Given the description of an element on the screen output the (x, y) to click on. 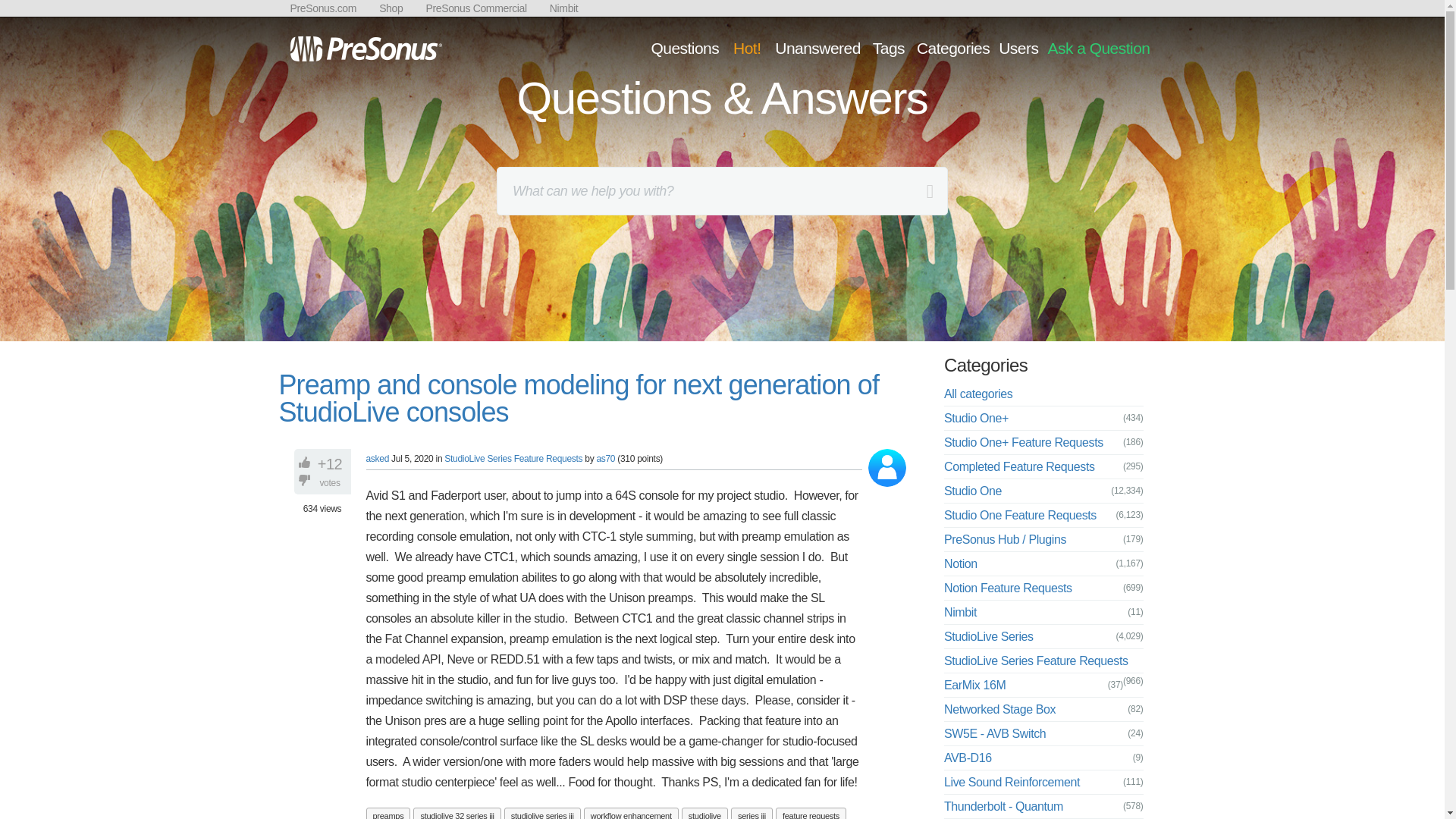
series iii (751, 813)
PreSonus.com (322, 8)
feature requests (810, 813)
studiolive series iii (541, 813)
PreSonus Commercial (475, 8)
Unanswered (817, 46)
Click to vote up (306, 463)
Questions (684, 46)
Ask a Question (1098, 46)
Tags (888, 46)
Search (13, 13)
Click to vote down (306, 479)
StudioLive Series Feature Requests (513, 458)
studiolive (704, 813)
preamps (387, 813)
